Given the description of an element on the screen output the (x, y) to click on. 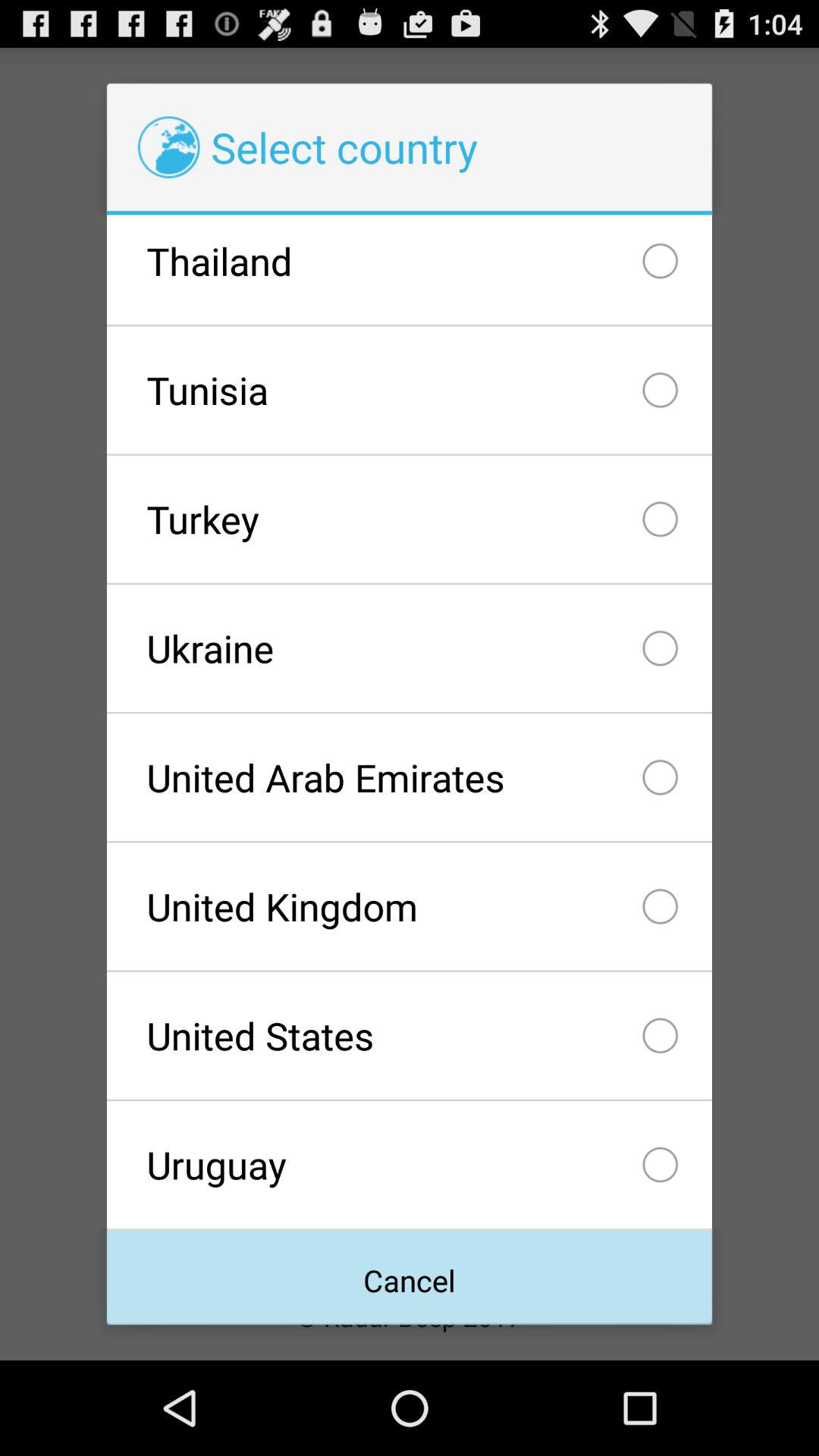
press icon above the turkey item (409, 389)
